Given the description of an element on the screen output the (x, y) to click on. 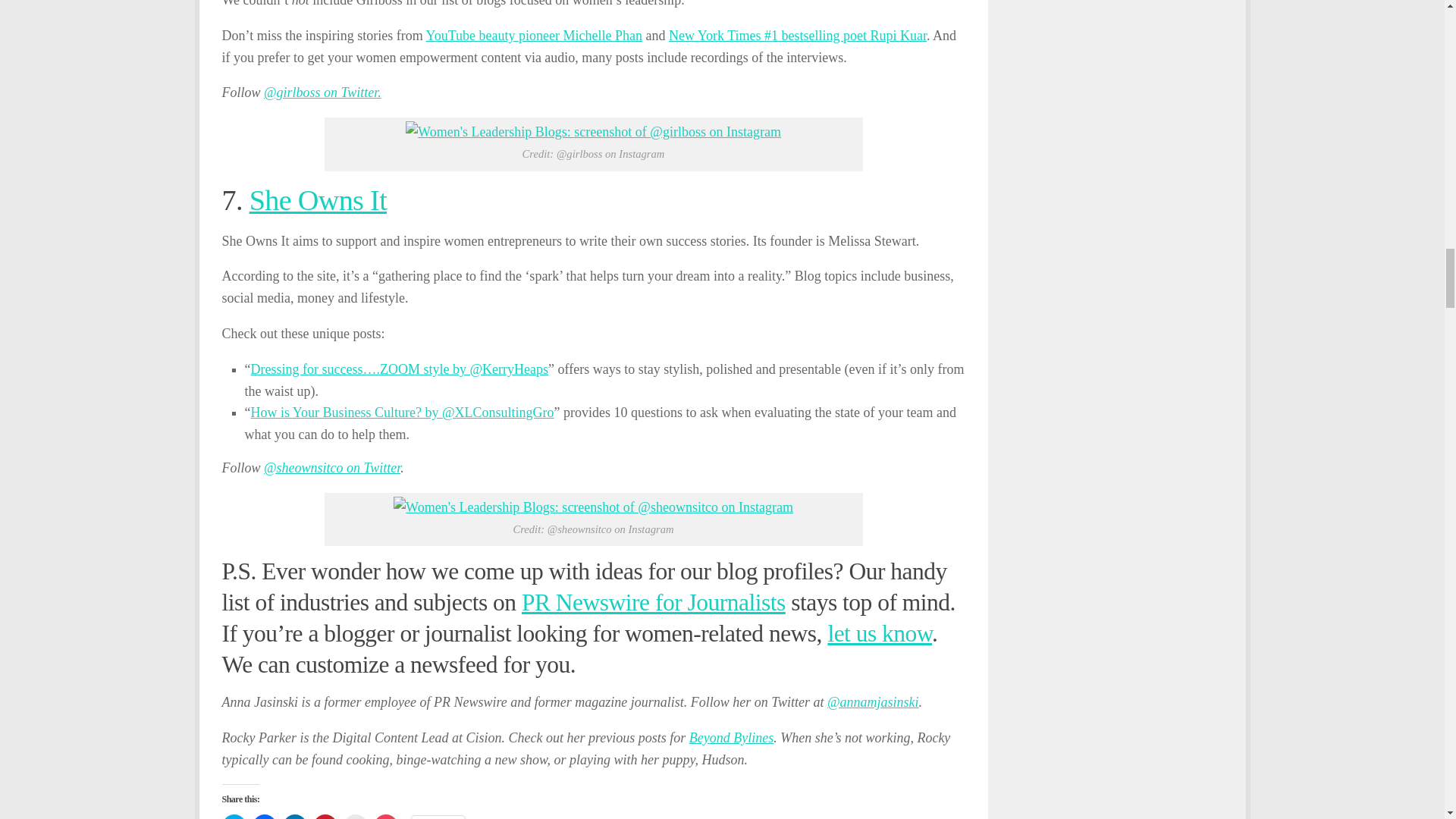
Click to share on Pinterest (324, 816)
Click to share on Pocket (384, 816)
Click to share on Twitter (233, 816)
Click to share on Facebook (263, 816)
Click to share on LinkedIn (293, 816)
Click to email a link to a friend (354, 816)
